Given the description of an element on the screen output the (x, y) to click on. 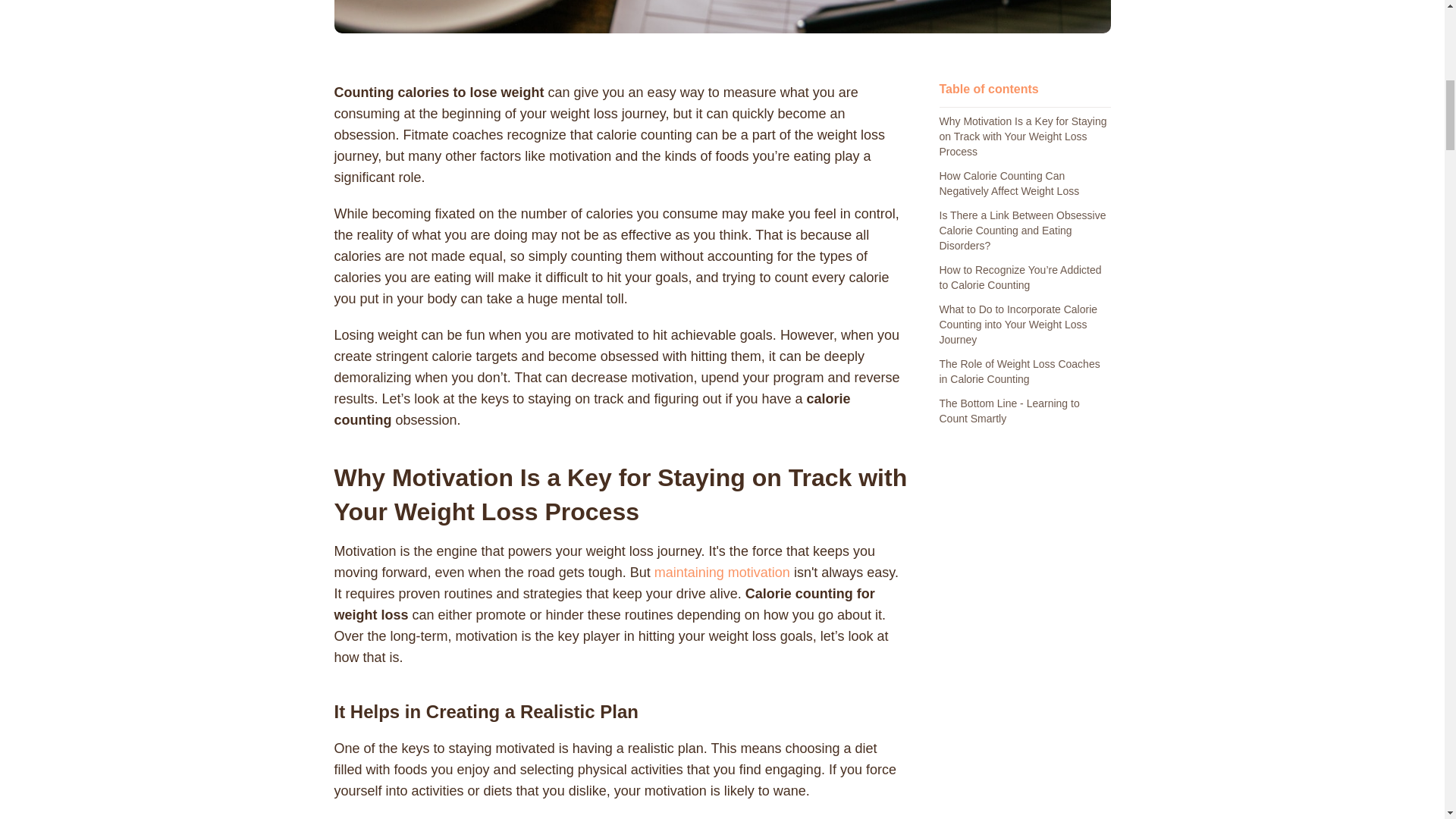
maintaining motivation (721, 572)
